Given the description of an element on the screen output the (x, y) to click on. 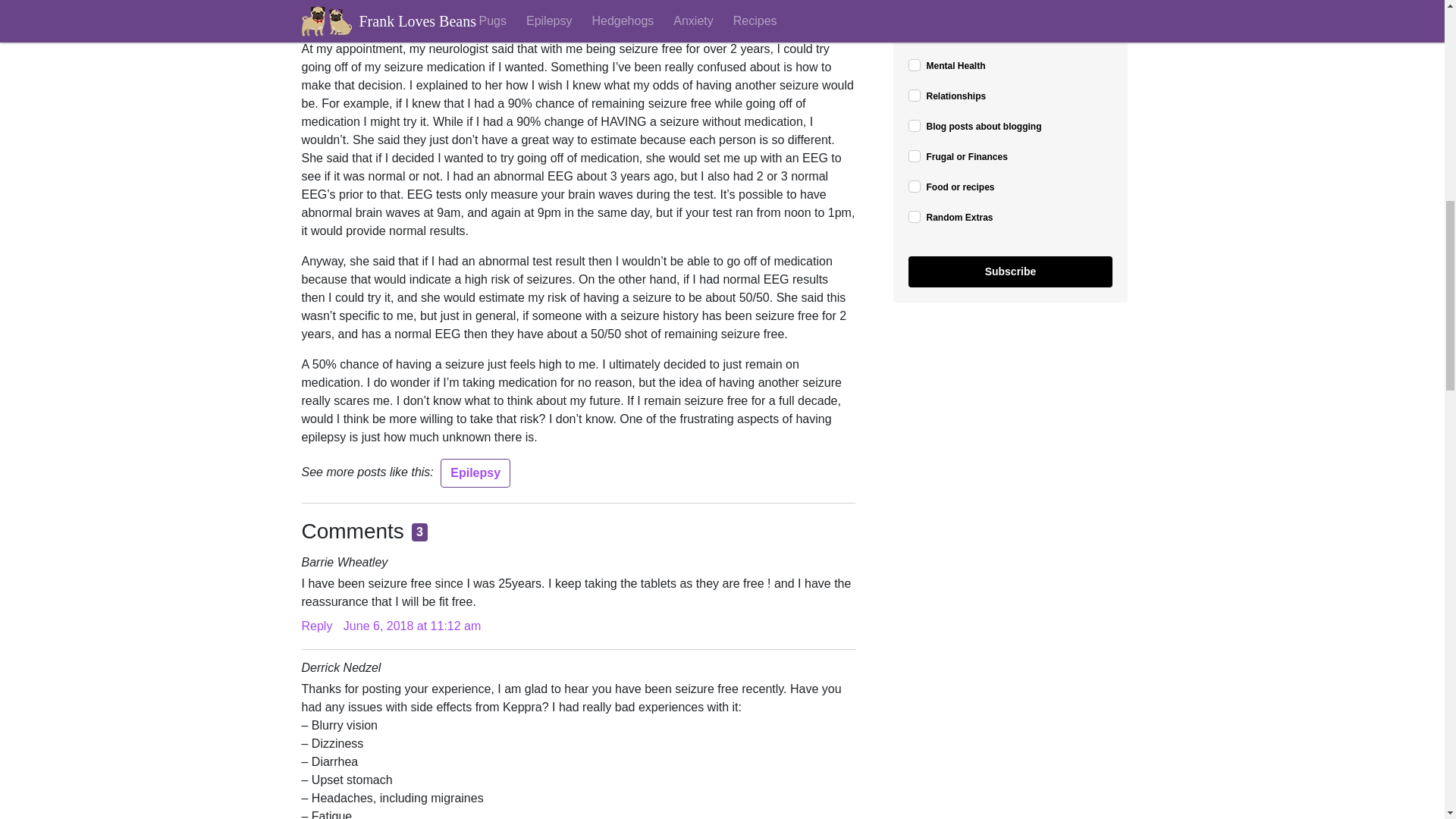
Epilepsy (476, 472)
June 6, 2018 at 11:12 am (411, 625)
Subscribe (1010, 271)
Reply (317, 625)
